Given the description of an element on the screen output the (x, y) to click on. 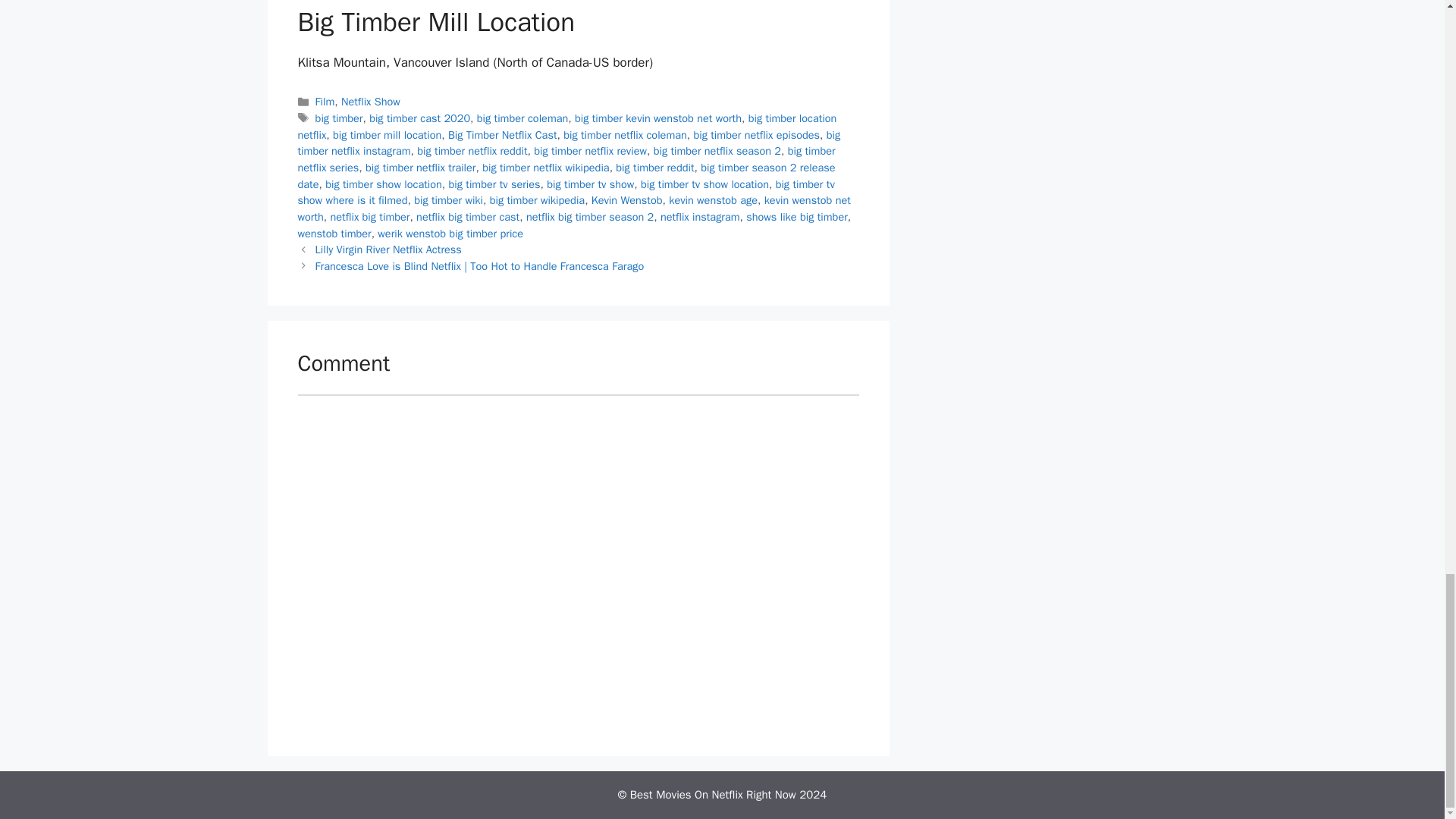
big timber cast 2020 (419, 118)
big timber netflix reddit (471, 151)
big timber netflix instagram (568, 142)
Film (324, 101)
big timber kevin wenstob net worth (658, 118)
big timber netflix series (565, 159)
big timber (338, 118)
big timber coleman (523, 118)
big timber location netflix (566, 126)
